Given the description of an element on the screen output the (x, y) to click on. 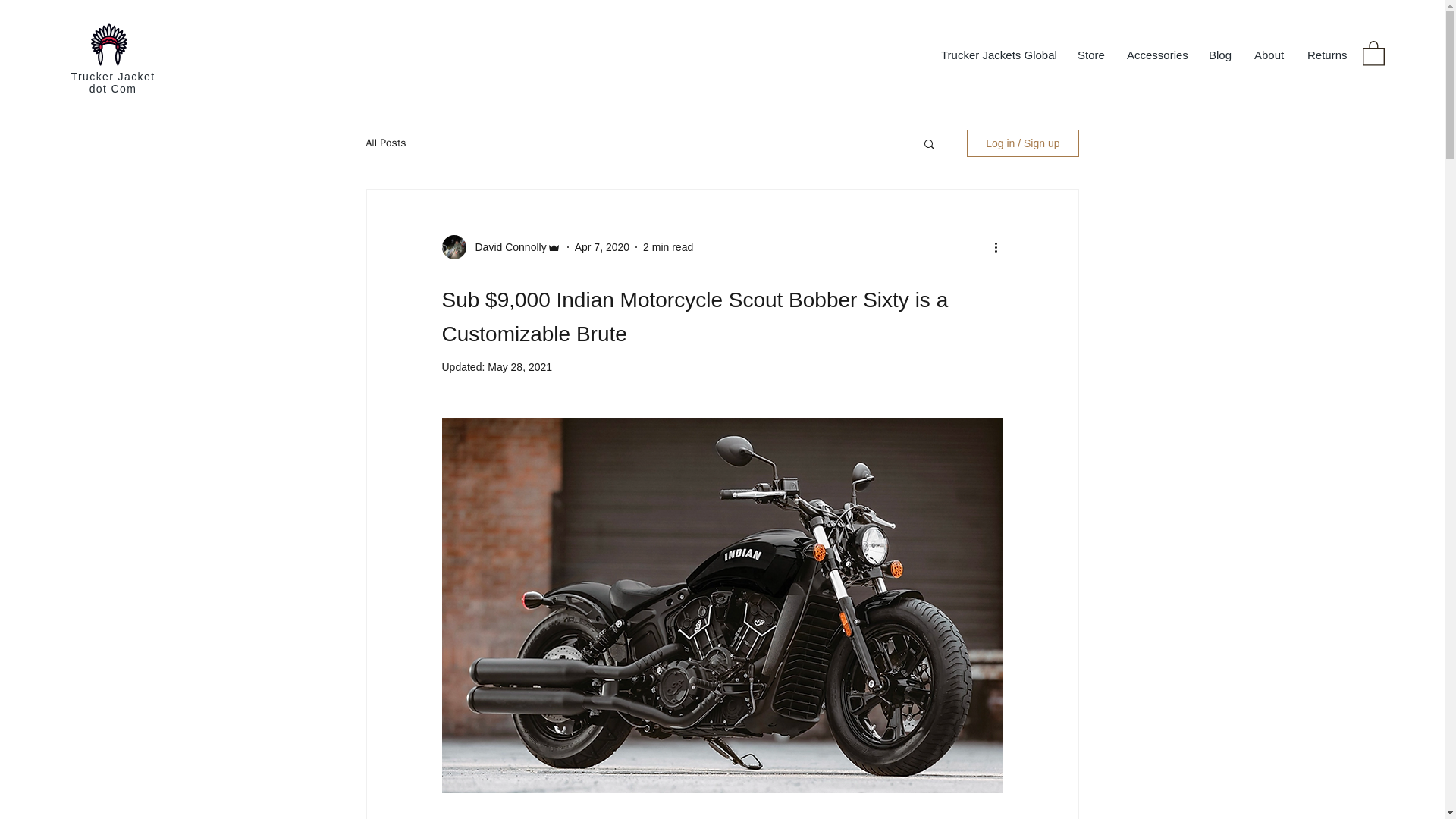
David Connolly (505, 247)
Blog (1219, 55)
Returns (1325, 55)
May 28, 2021 (519, 367)
Trucker Jacket (113, 76)
About (1269, 55)
dot Com (112, 88)
2 min read (668, 246)
Apr 7, 2020 (601, 246)
Accessories (1155, 55)
All Posts (385, 142)
Trucker Jackets Global (997, 55)
